Given the description of an element on the screen output the (x, y) to click on. 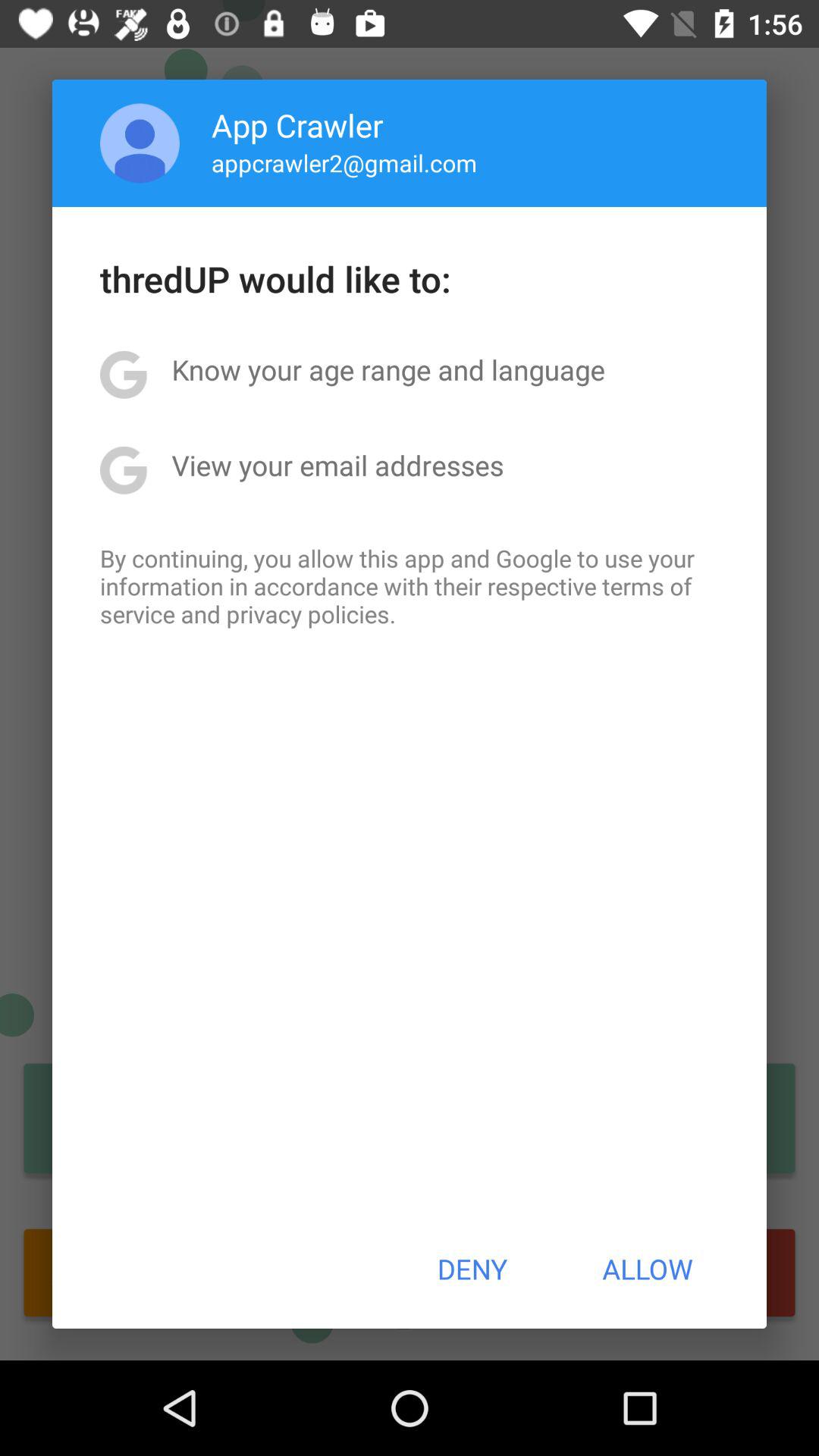
press the appcrawler2@gmail.com app (344, 162)
